Given the description of an element on the screen output the (x, y) to click on. 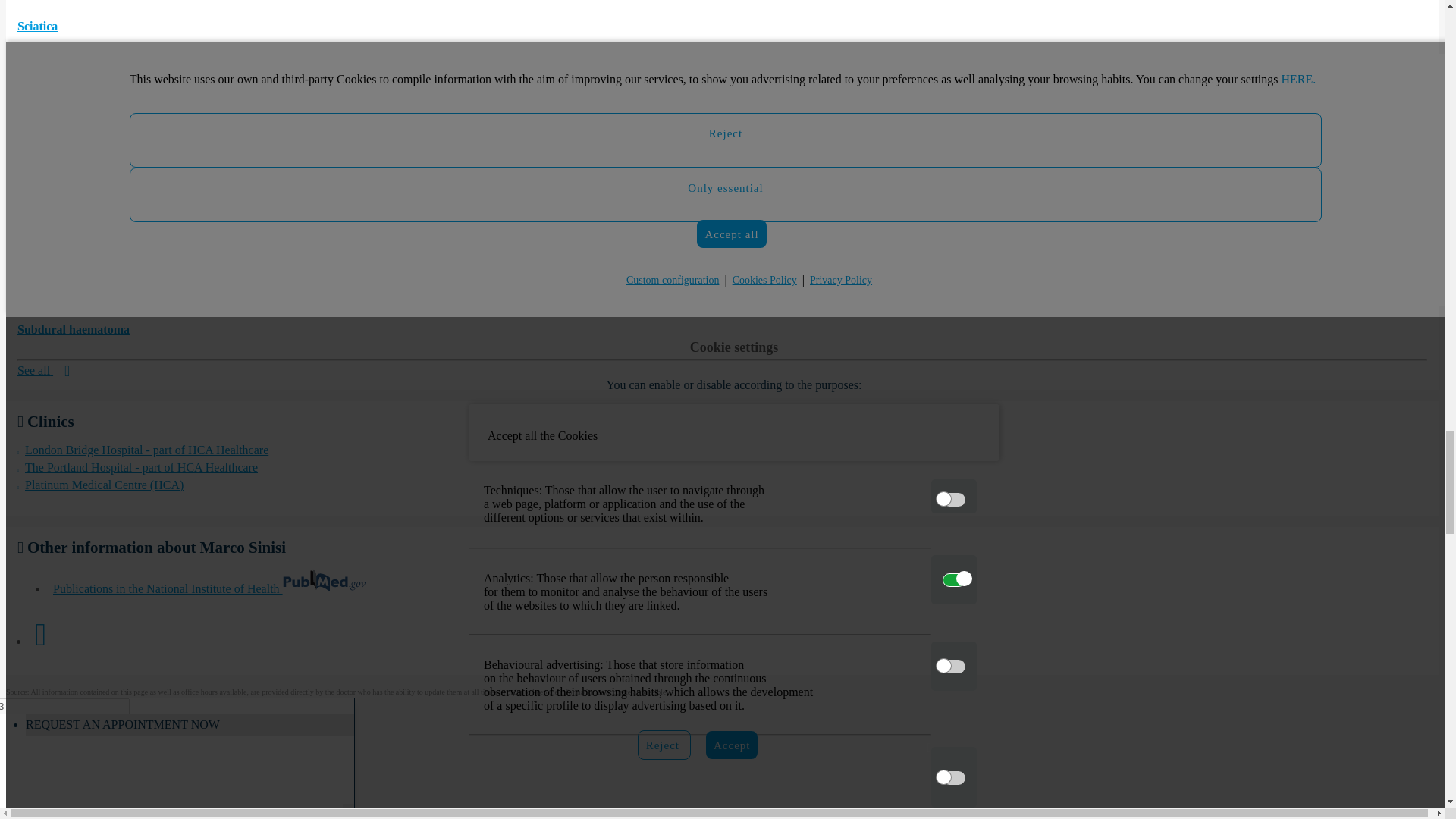
3 (64, 706)
